Given the description of an element on the screen output the (x, y) to click on. 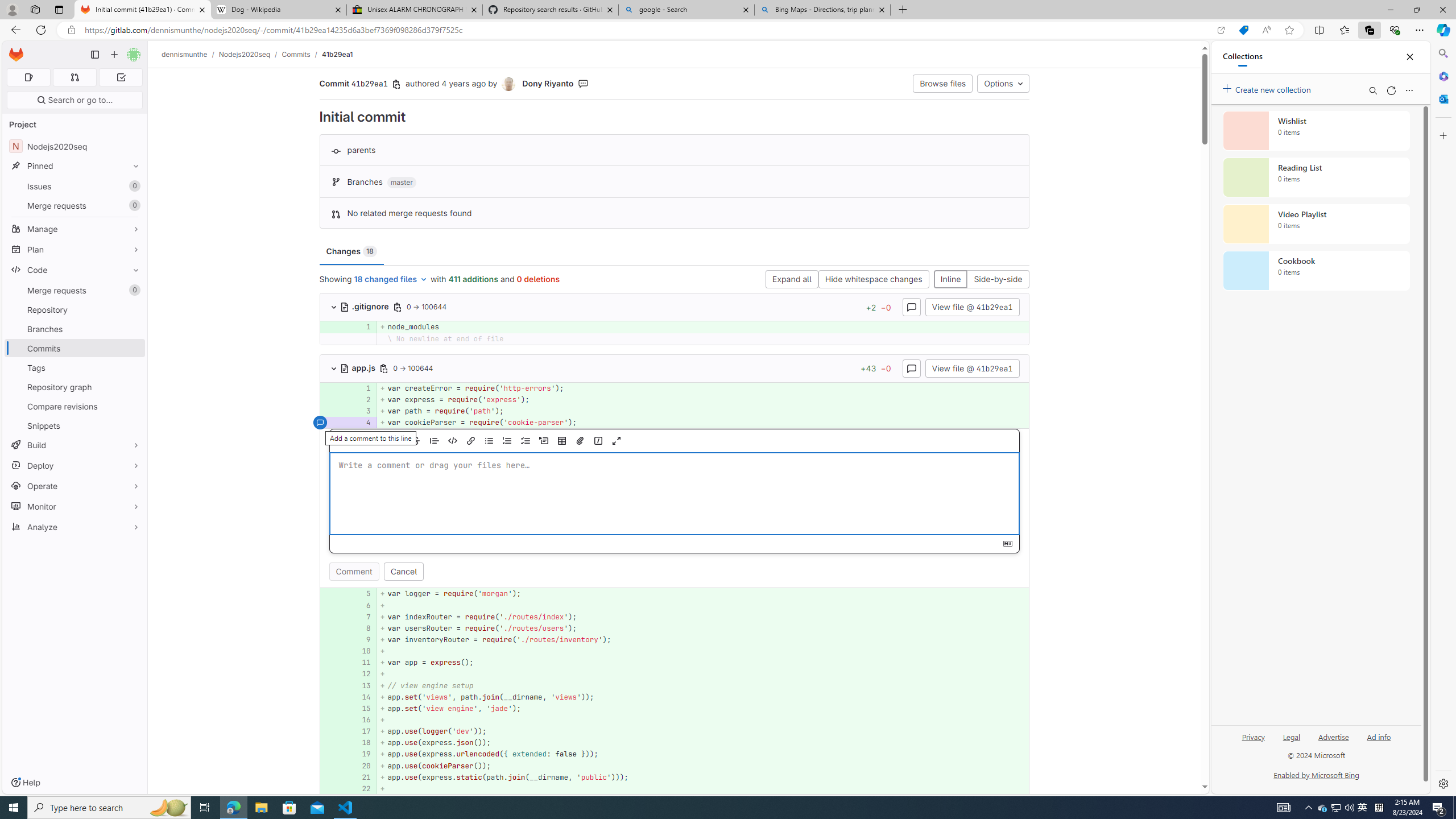
Pin Repository graph (132, 386)
NNodejs2020seq (74, 145)
19 (360, 754)
Build (74, 444)
5 (362, 594)
Create new... (113, 54)
3 (362, 410)
9 (362, 639)
+  (703, 788)
20 (360, 765)
Create new collection (1268, 87)
AutomationID: 4a68969ef8e858229267b842dedf42ab5dde4d50_0_2 (674, 399)
Compare revisions (74, 406)
